Given the description of an element on the screen output the (x, y) to click on. 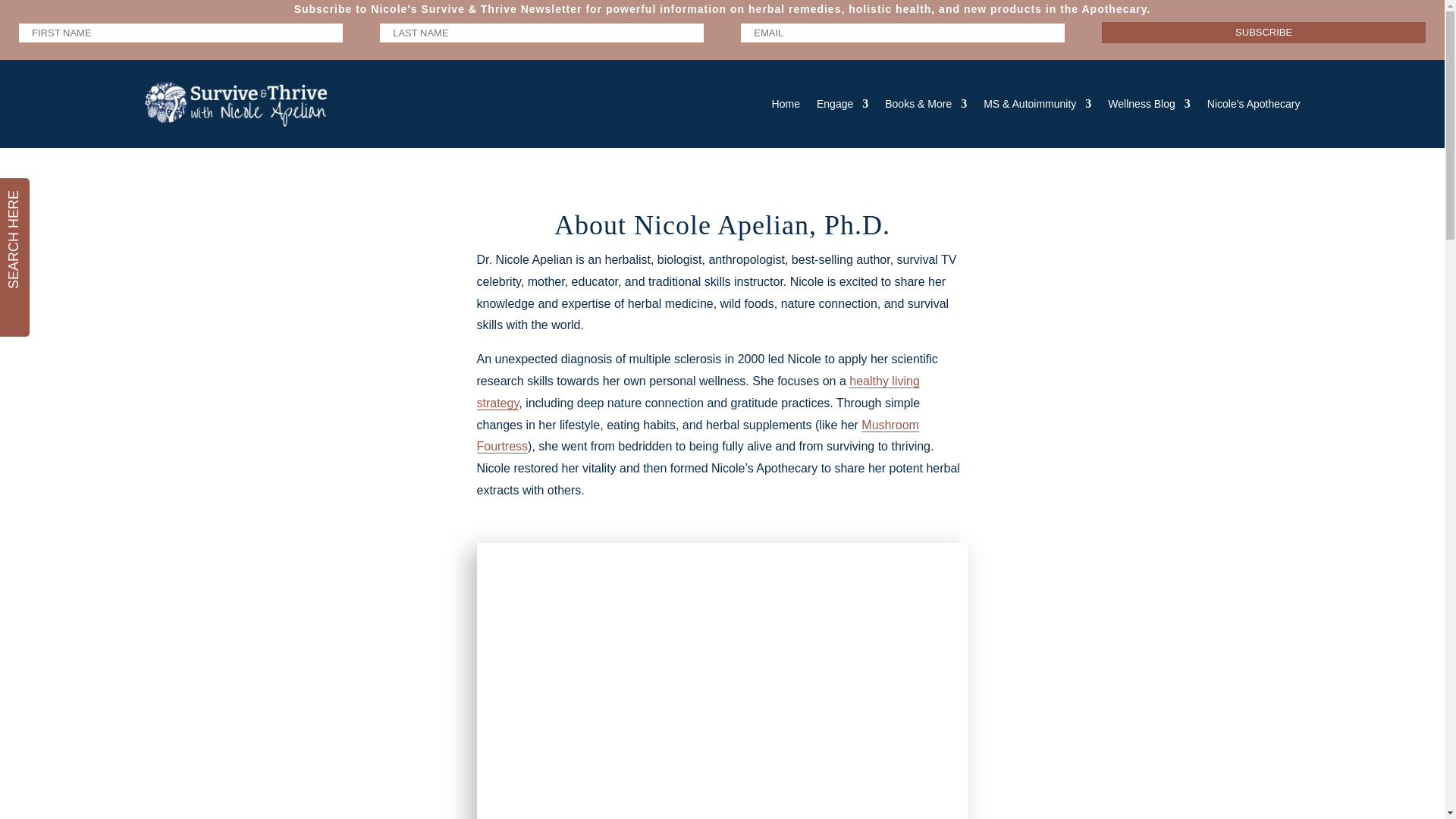
Home (785, 103)
Wellness Blog (1148, 103)
SUBSCRIBE (1263, 32)
Engage (841, 103)
